Given the description of an element on the screen output the (x, y) to click on. 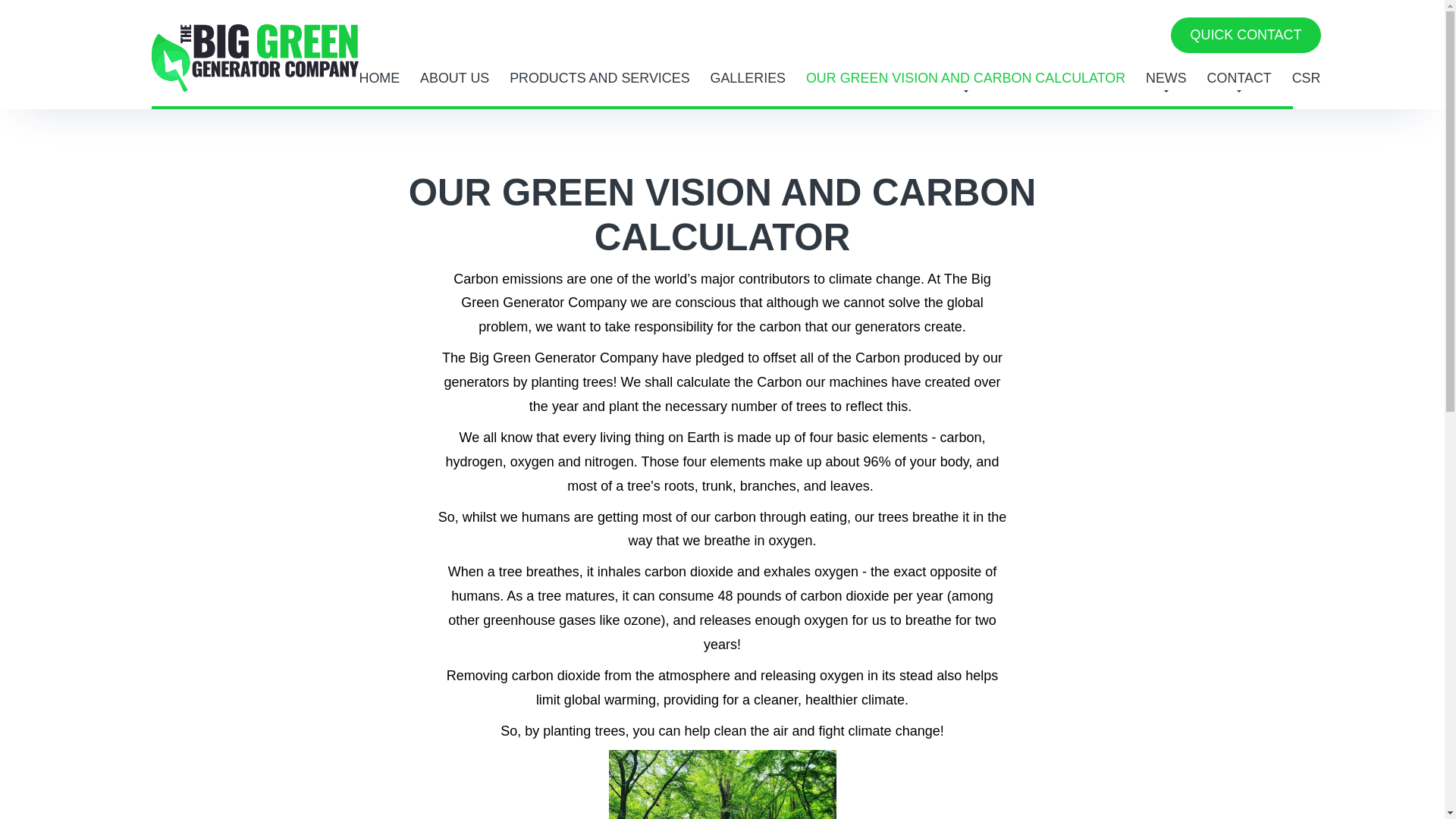
Follow us on Twitter (1092, 35)
Home (378, 77)
Click to get in touch (1245, 35)
PRODUCTS AND SERVICES (598, 77)
GALLERIES (748, 77)
Follow us on Facebook (1067, 35)
Back to homepage (255, 52)
News (1165, 77)
Contact (1239, 77)
Products and Services (598, 77)
